Given the description of an element on the screen output the (x, y) to click on. 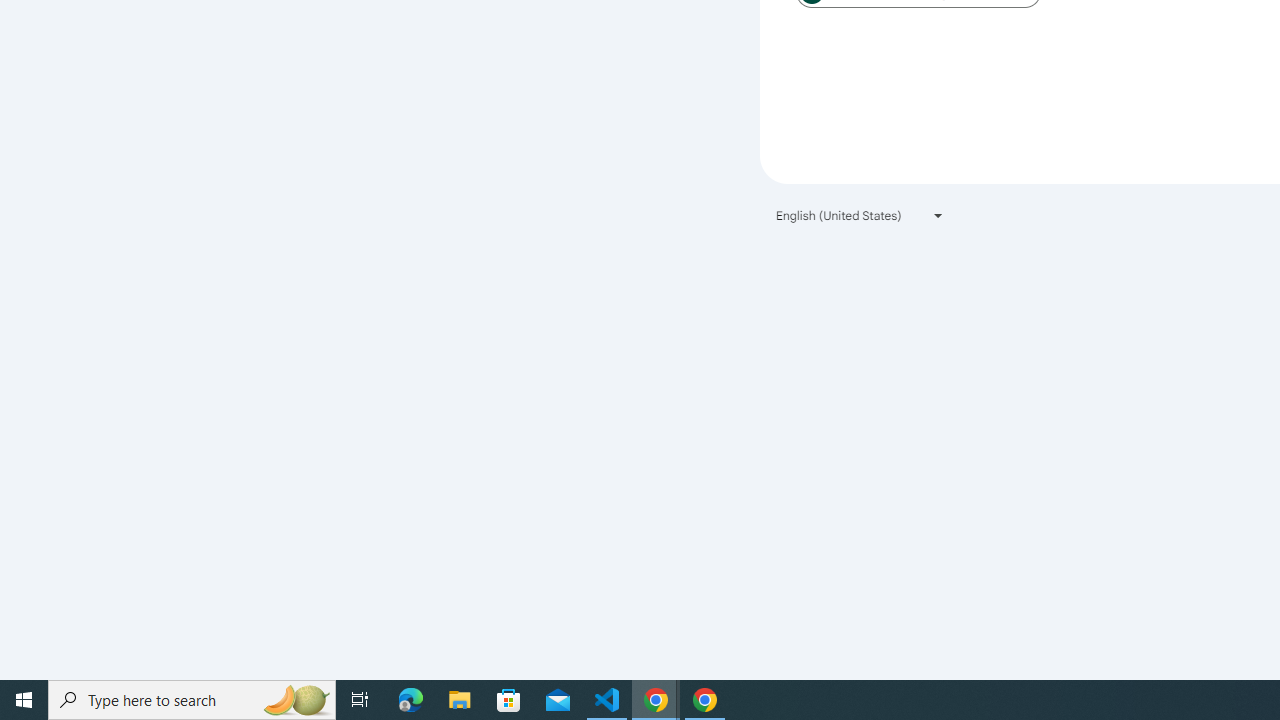
English (United States) (860, 214)
